Given the description of an element on the screen output the (x, y) to click on. 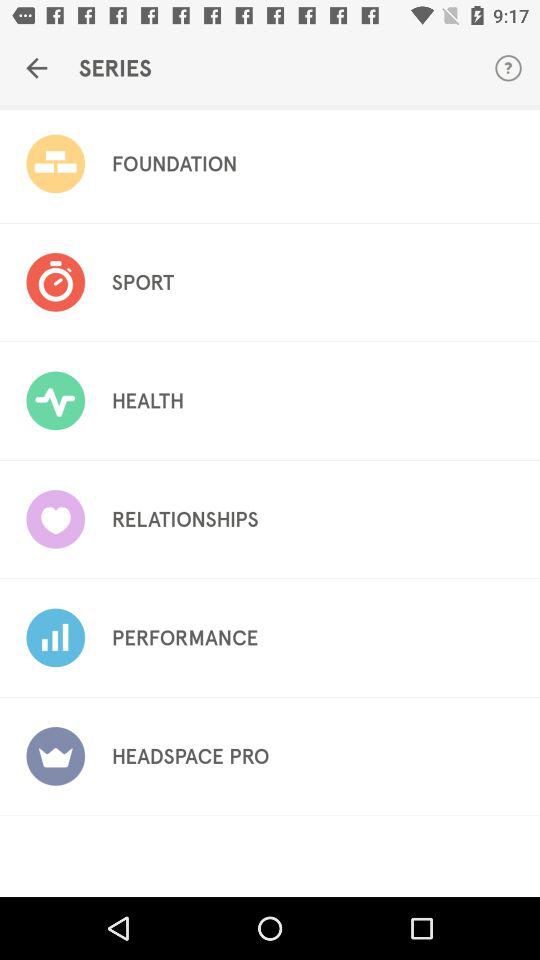
press item above health (142, 282)
